Given the description of an element on the screen output the (x, y) to click on. 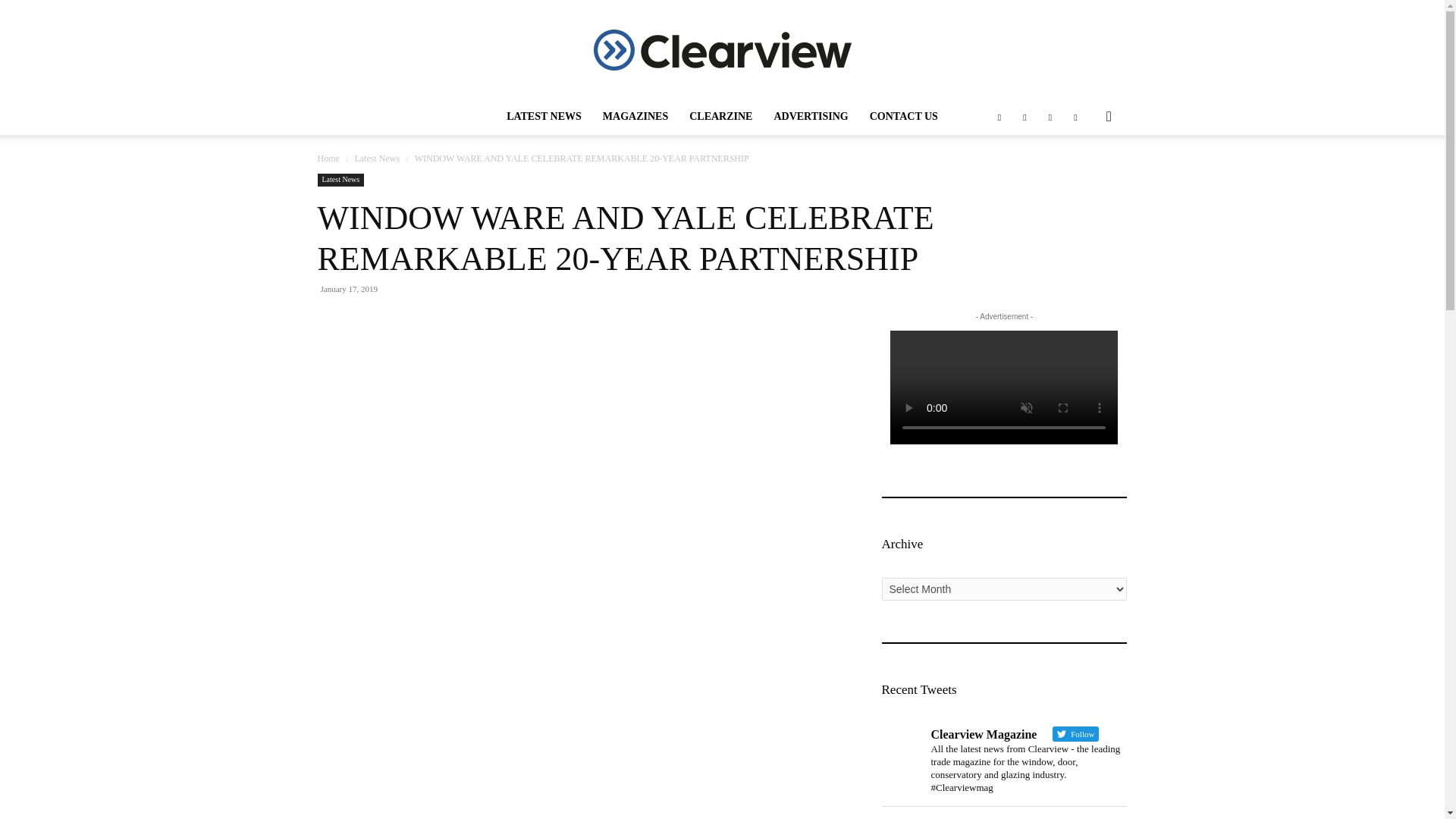
LATEST NEWS (544, 116)
Clearview Magazine (721, 49)
MAGAZINES (635, 116)
CLEARZINE (720, 116)
